Given the description of an element on the screen output the (x, y) to click on. 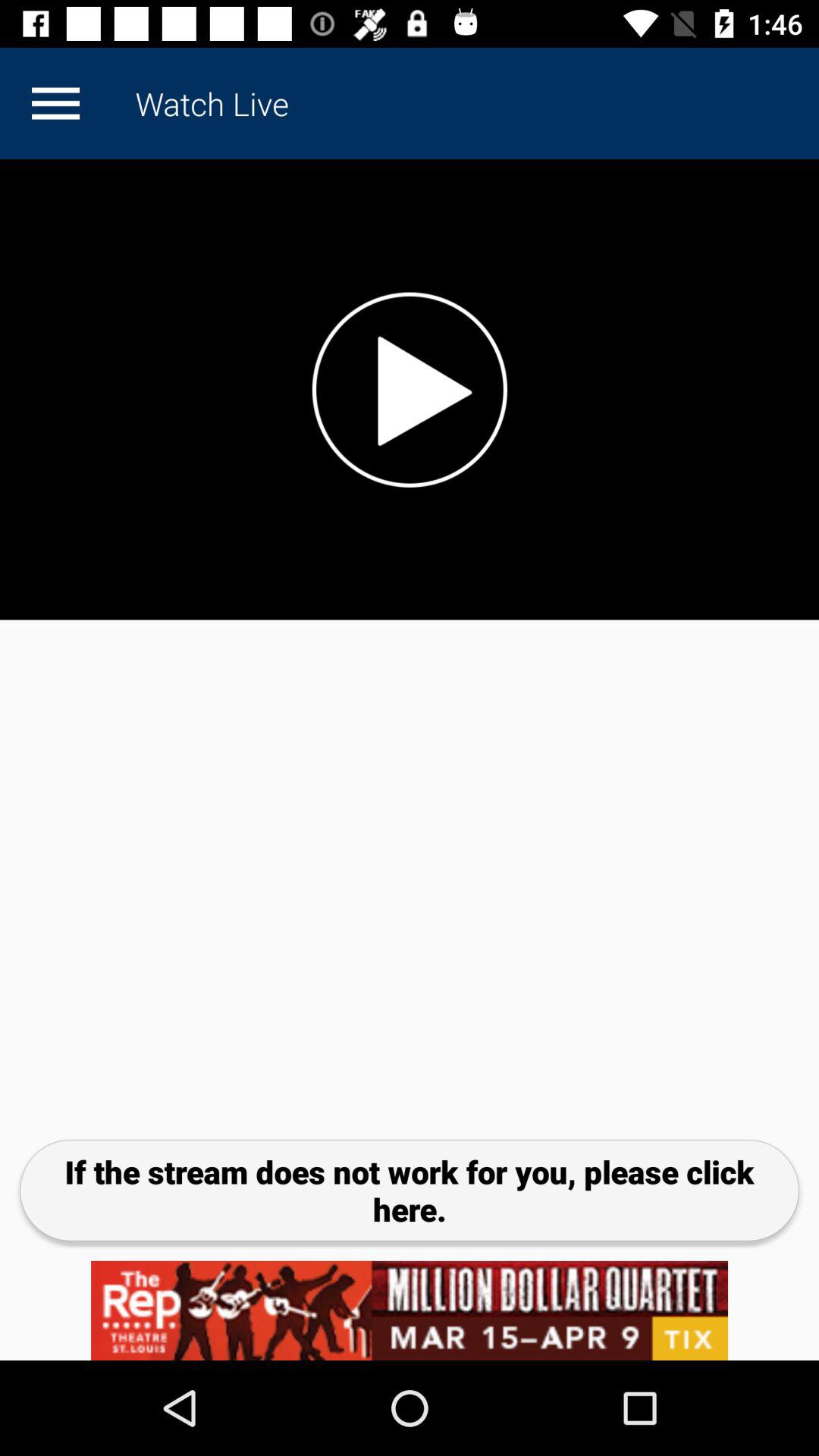
view advertisement (409, 1310)
